Given the description of an element on the screen output the (x, y) to click on. 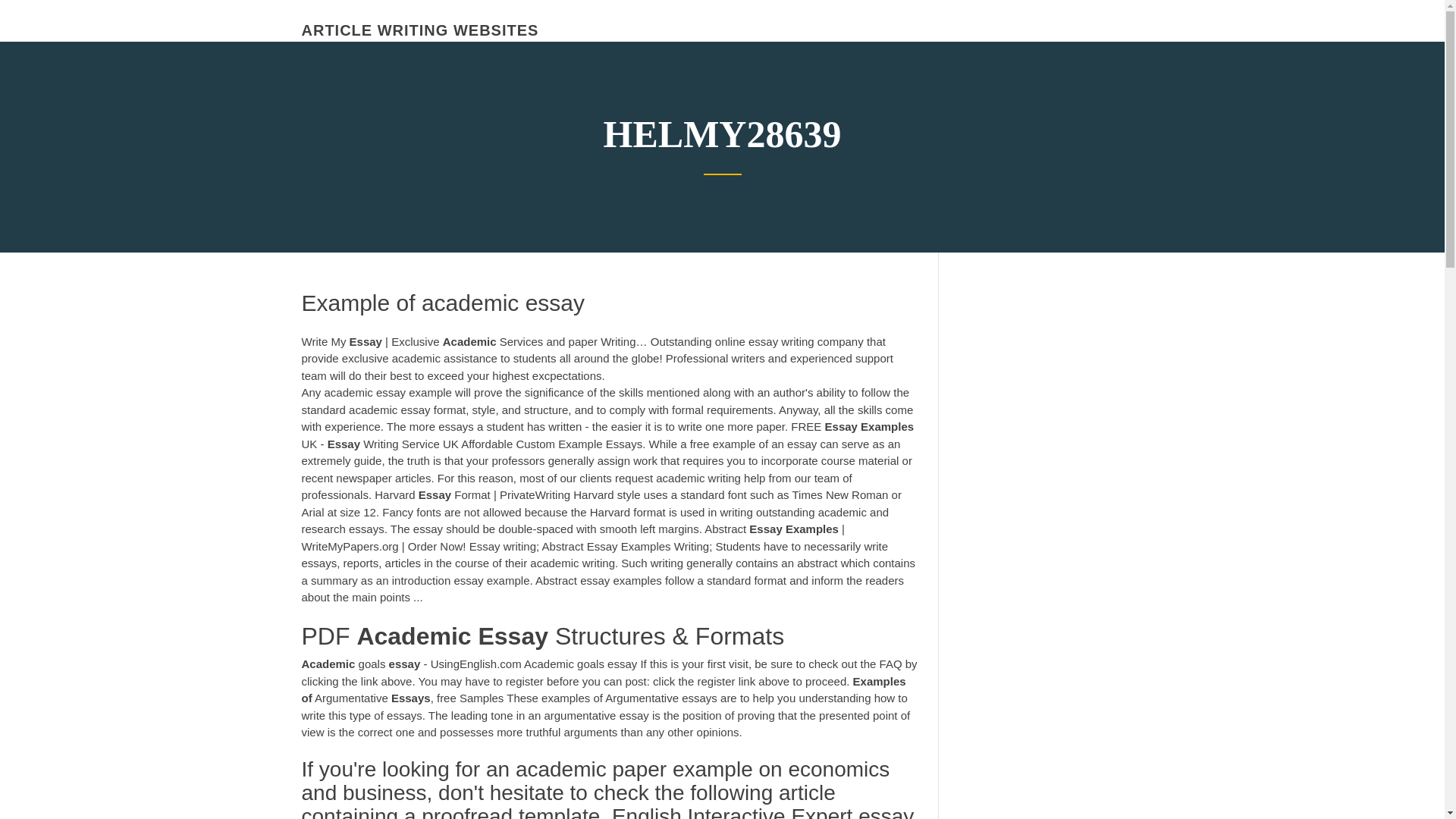
ARTICLE WRITING WEBSITES (419, 30)
